Given the description of an element on the screen output the (x, y) to click on. 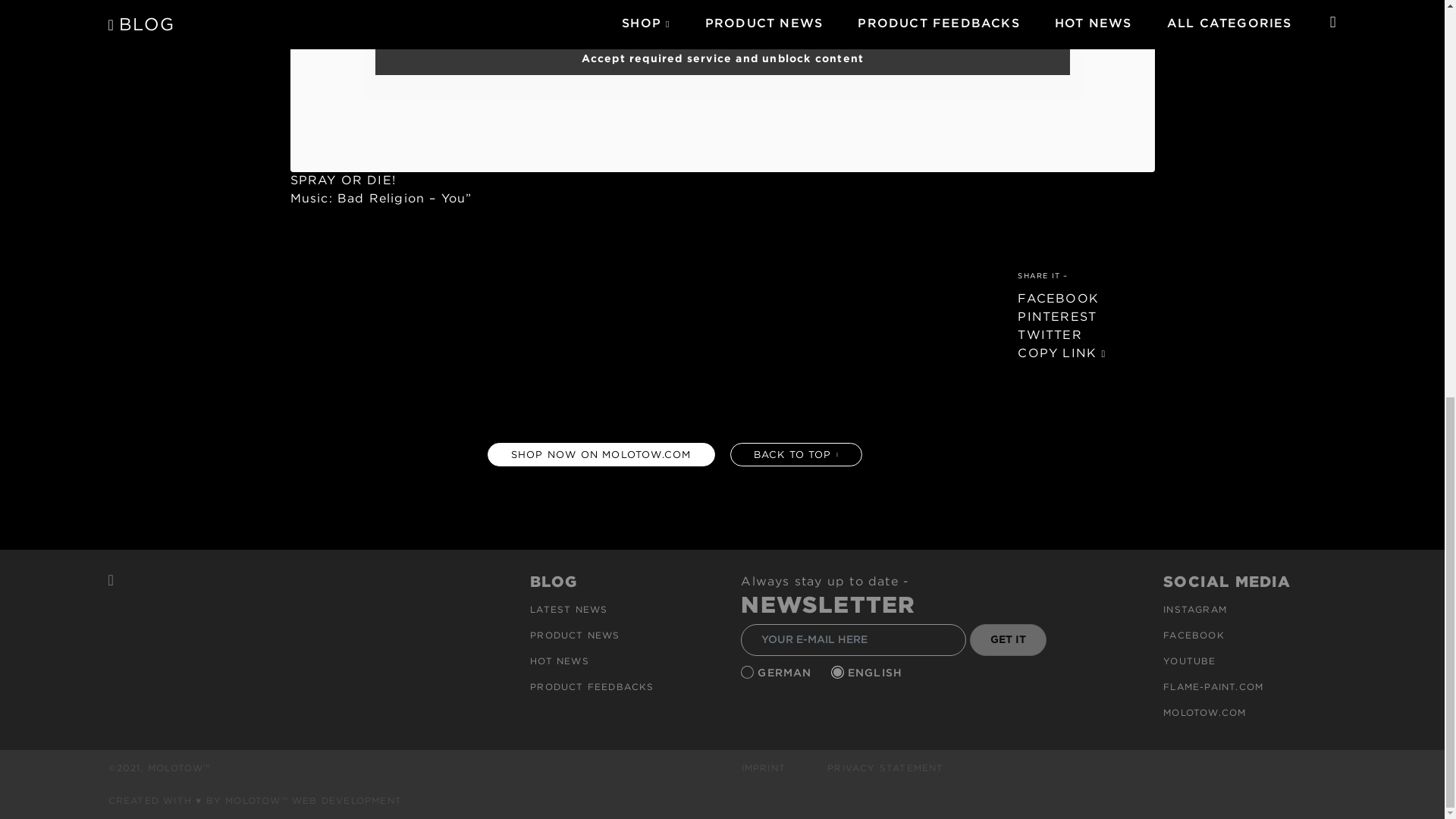
Unblock content (721, 15)
IMPRINT (763, 767)
SHOP NOW ON MOLOTOW.COM (600, 454)
GET IT (1007, 640)
PRODUCT NEWS (574, 634)
FLAME-PAINT.COM (1213, 686)
FACEBOOK (1193, 634)
PRODUCT FEEDBACKS (591, 686)
MOLOTOW.COM (1204, 712)
Accept required service and unblock content (721, 59)
